Given the description of an element on the screen output the (x, y) to click on. 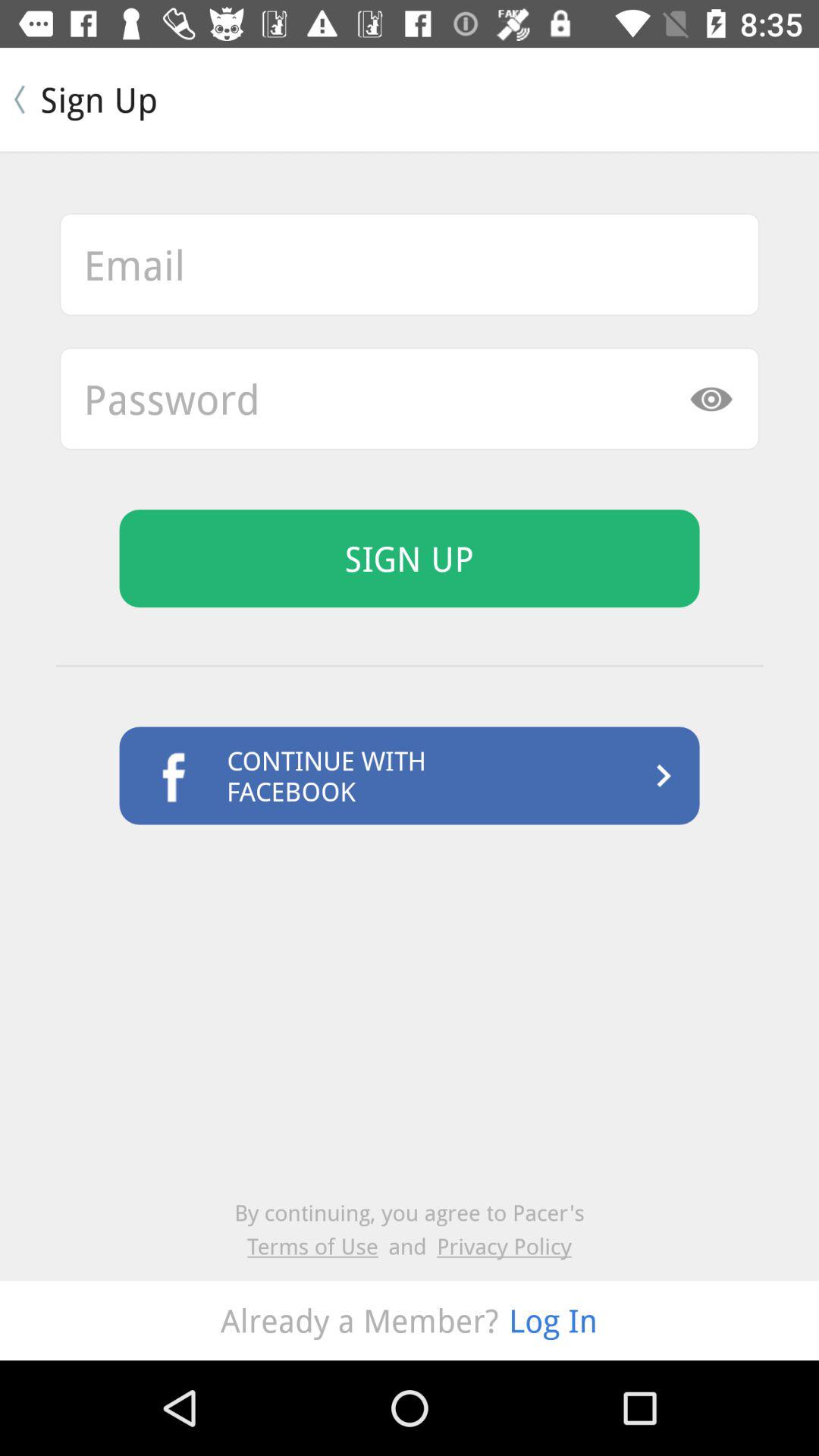
launch icon to the right of and (503, 1245)
